Given the description of an element on the screen output the (x, y) to click on. 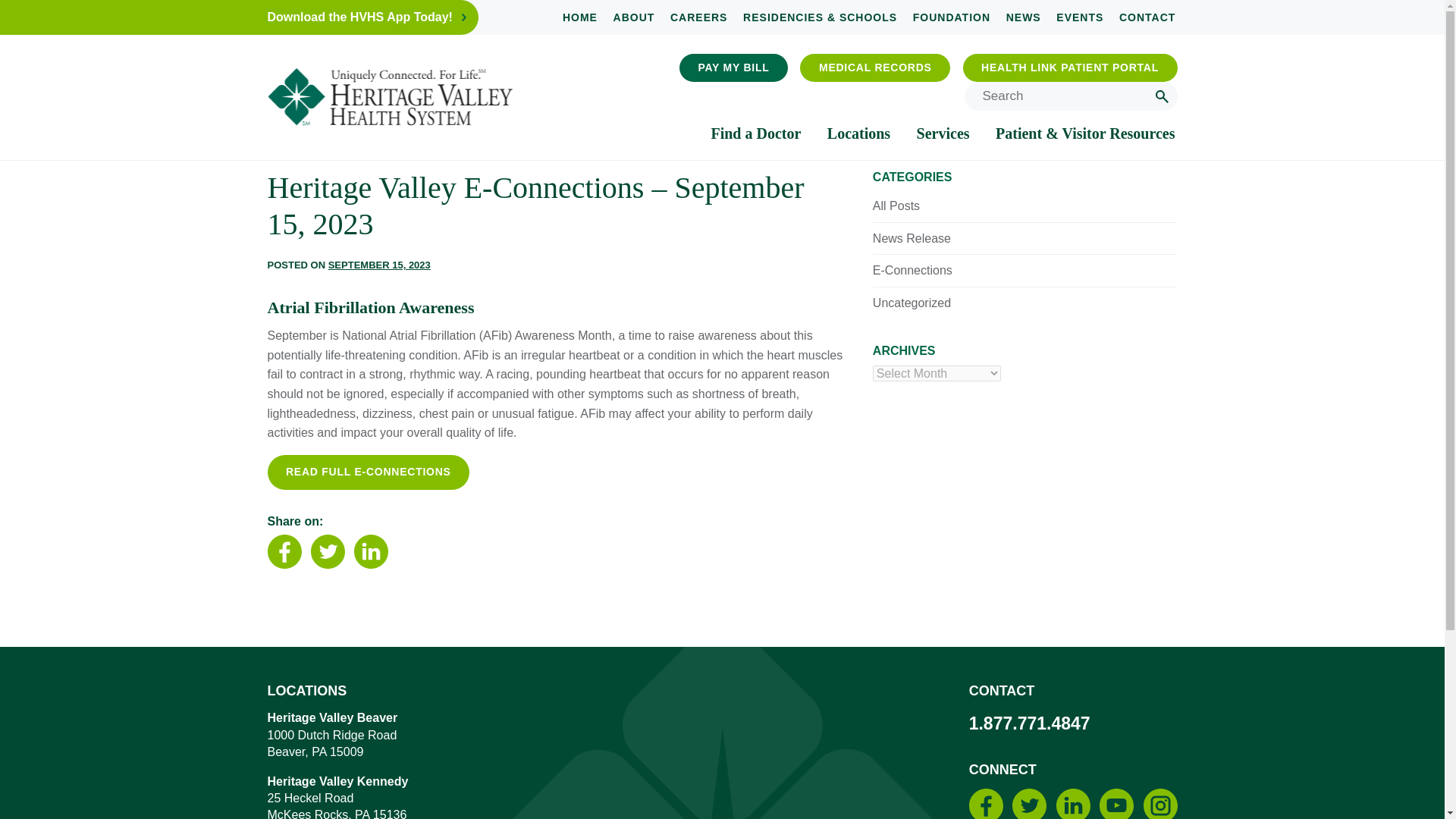
Locations (858, 133)
ABOUT (633, 16)
SEARCH (1161, 95)
HOME (579, 16)
MEDICAL RECORDS (874, 68)
SEPTEMBER 15, 2023 (379, 265)
HEALTH LINK PATIENT PORTAL (1069, 68)
Heritage Valley Health System (389, 96)
NEWS (1023, 16)
PAY MY BILL (733, 68)
